Given the description of an element on the screen output the (x, y) to click on. 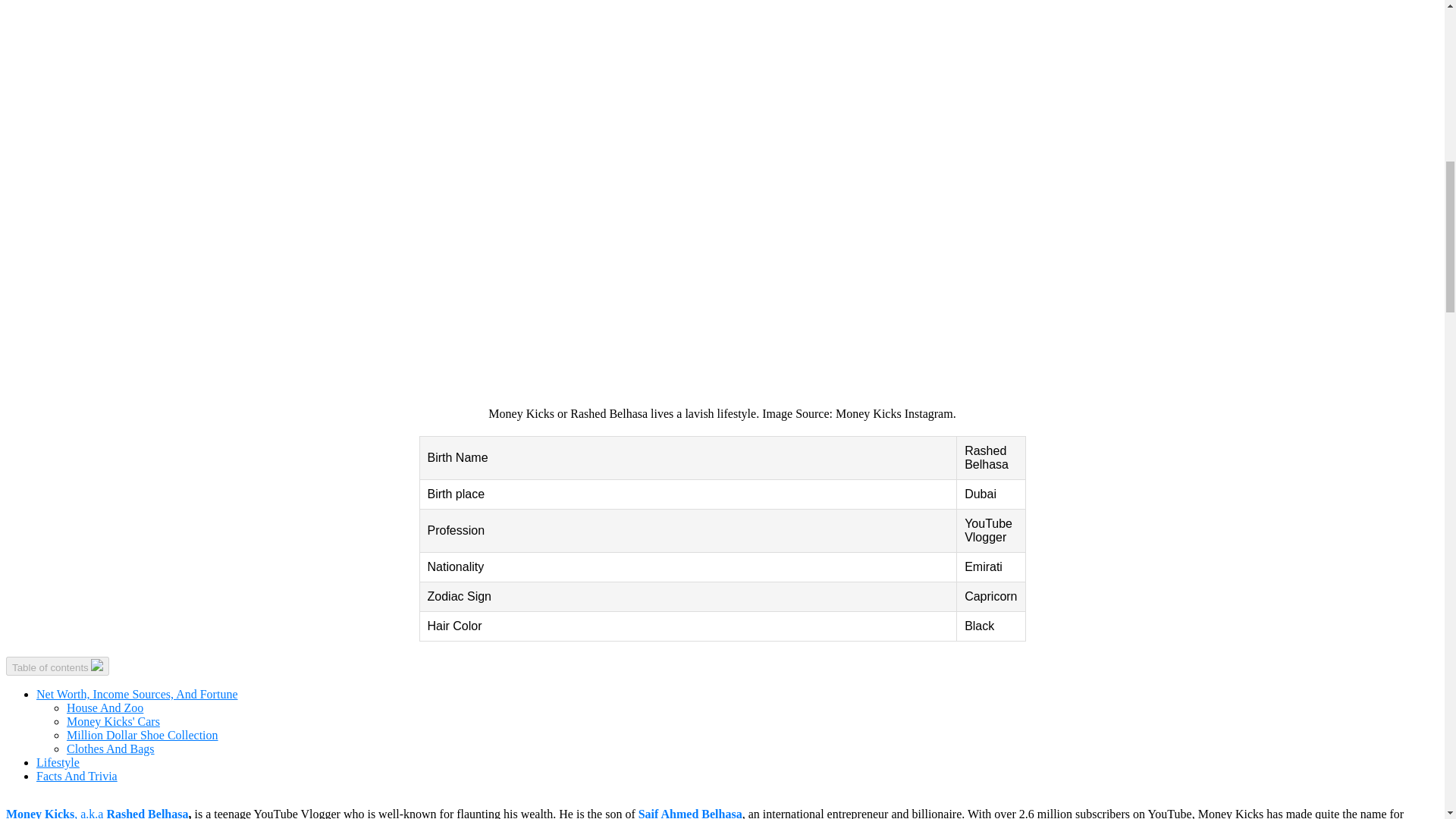
Money Kicks, a.k.a (55, 813)
Saif Ahmed Belhasa (690, 813)
Rashed Belhasa (146, 813)
Million Dollar Shoe Collection (142, 735)
Table of contents (57, 665)
Lifestyle (58, 762)
Money Kicks' Cars (113, 721)
Clothes And Bags (110, 748)
Net Worth, Income Sources, And Fortune (136, 694)
Facts And Trivia (76, 775)
House And Zoo (104, 707)
